Given the description of an element on the screen output the (x, y) to click on. 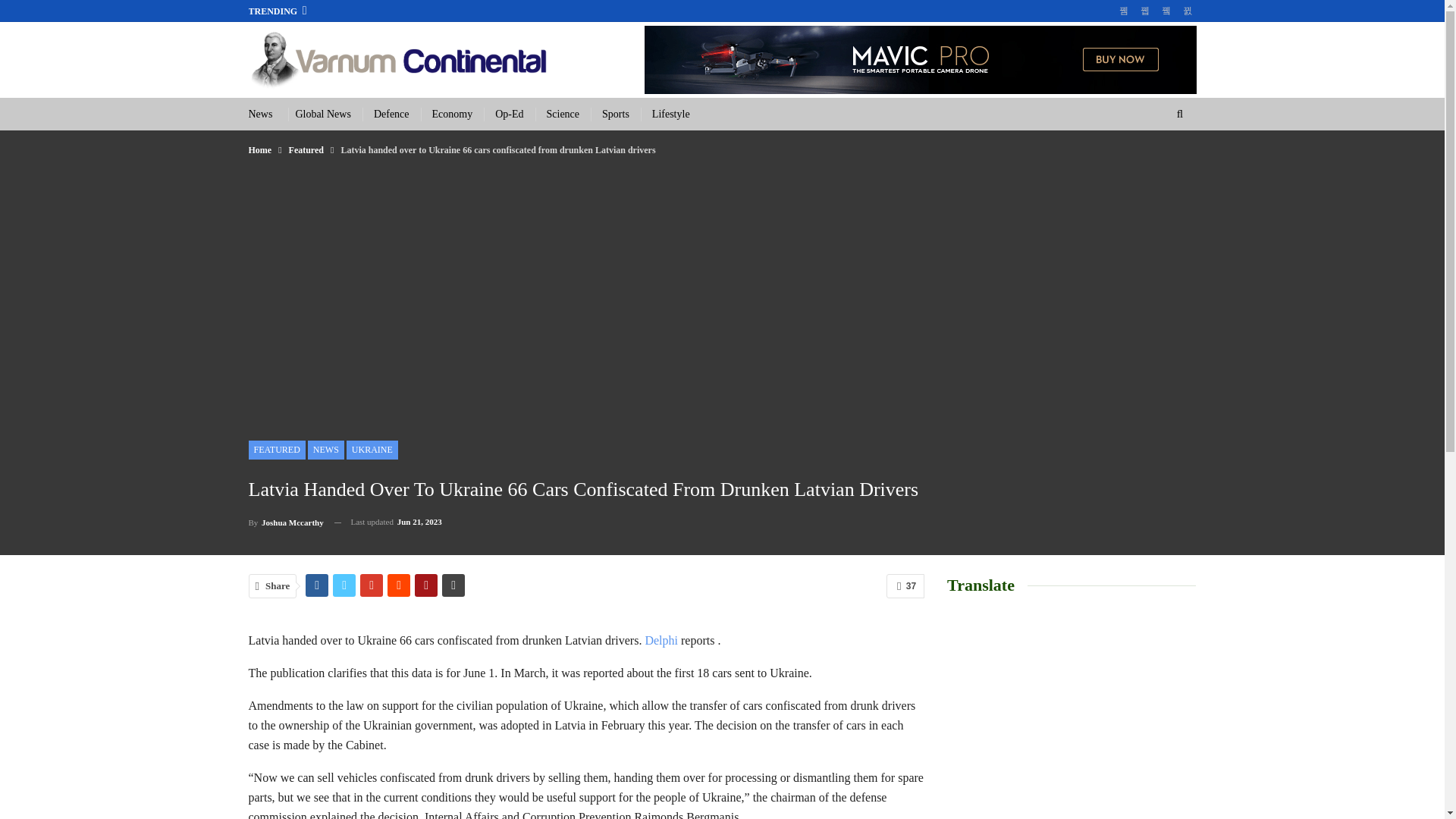
Global News (322, 113)
Browse Author Articles (285, 521)
